Given the description of an element on the screen output the (x, y) to click on. 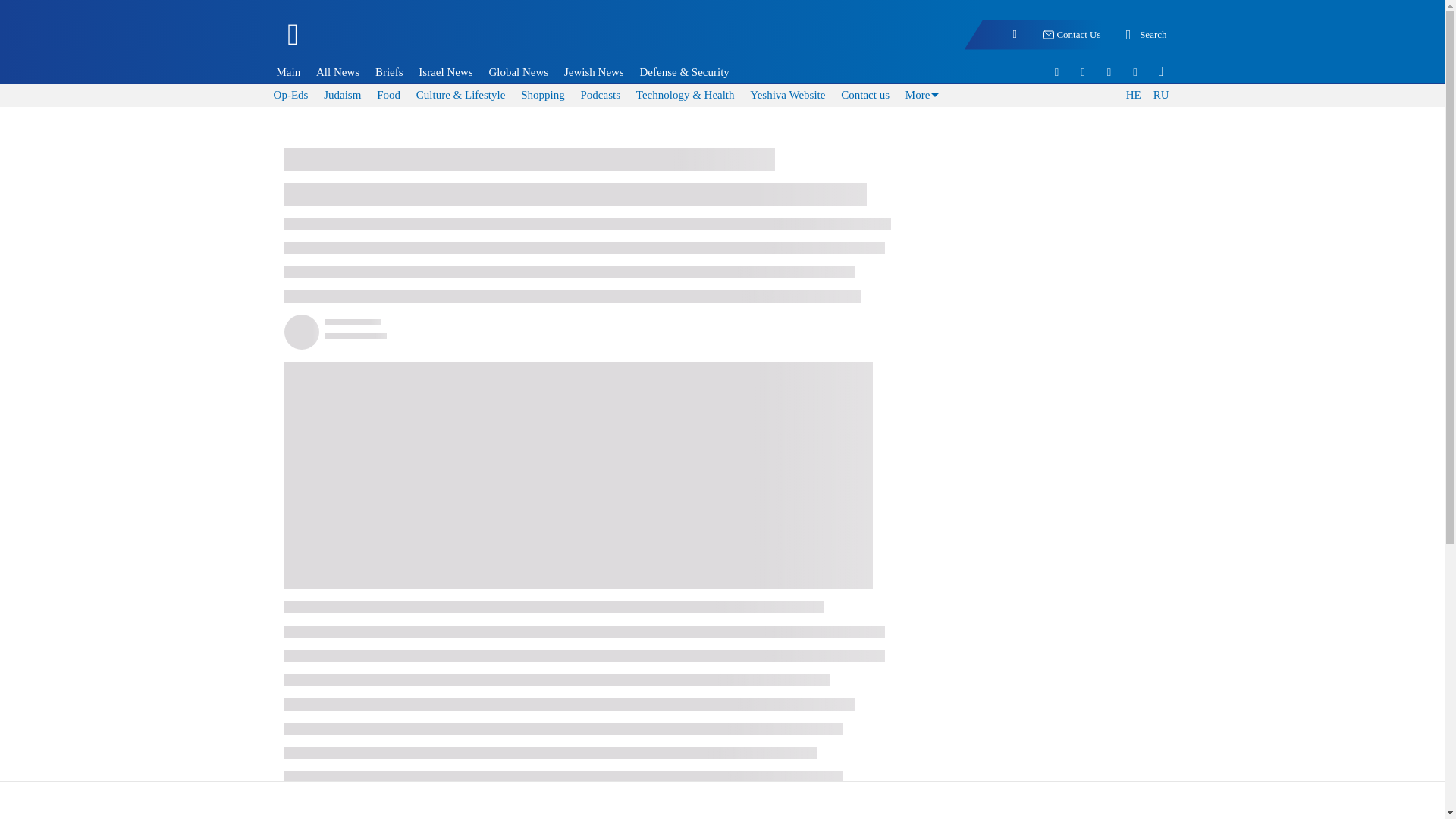
Podcasts (599, 94)
RU (1160, 95)
Contact Us (1071, 34)
Search (1143, 34)
Shopping (542, 94)
Briefs (389, 71)
Israel National News - Arutz Sheva (373, 40)
Op-Eds (290, 94)
Food (388, 94)
Israel News (445, 71)
